Given the description of an element on the screen output the (x, y) to click on. 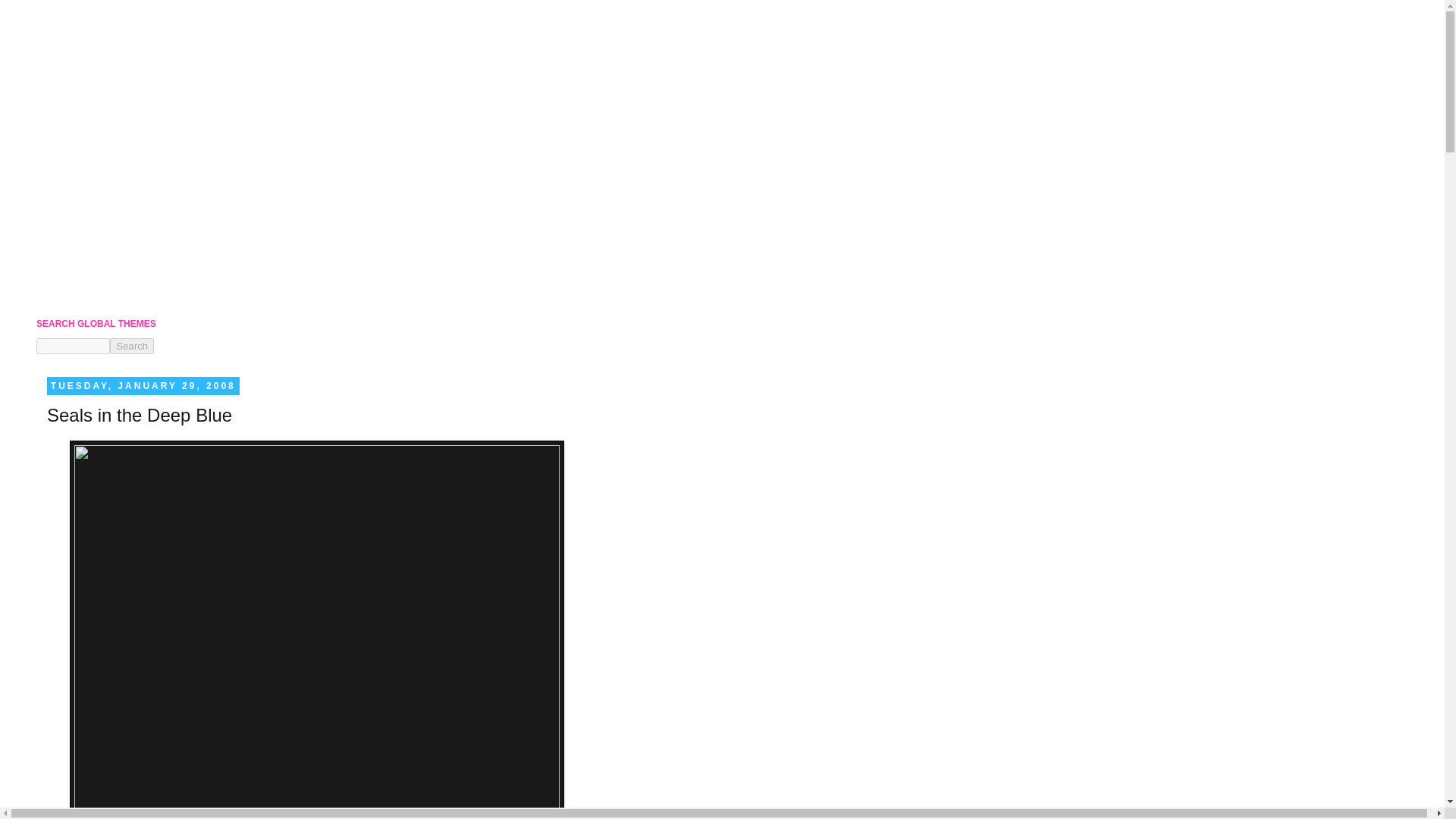
search (132, 345)
Search (132, 345)
Editor's Notes (86, 244)
Recognition (82, 269)
search (73, 345)
Search (132, 345)
WhoWhatWhy (88, 195)
Best of ... (76, 294)
Search (132, 345)
"Project Capturing Smiles" (114, 220)
